Given the description of an element on the screen output the (x, y) to click on. 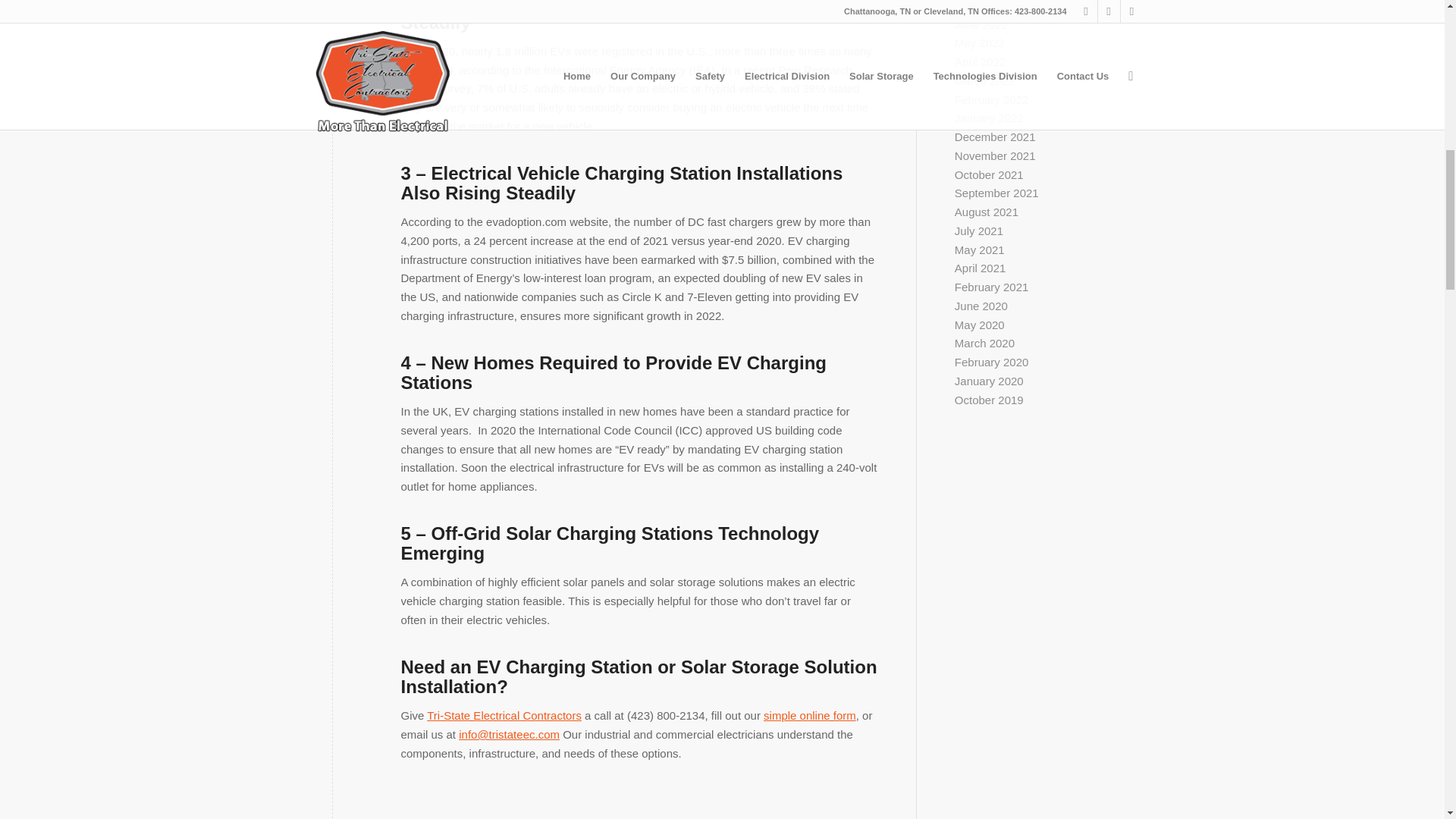
Tri-State Electrical Contractors (503, 715)
simple online form (809, 715)
